Given the description of an element on the screen output the (x, y) to click on. 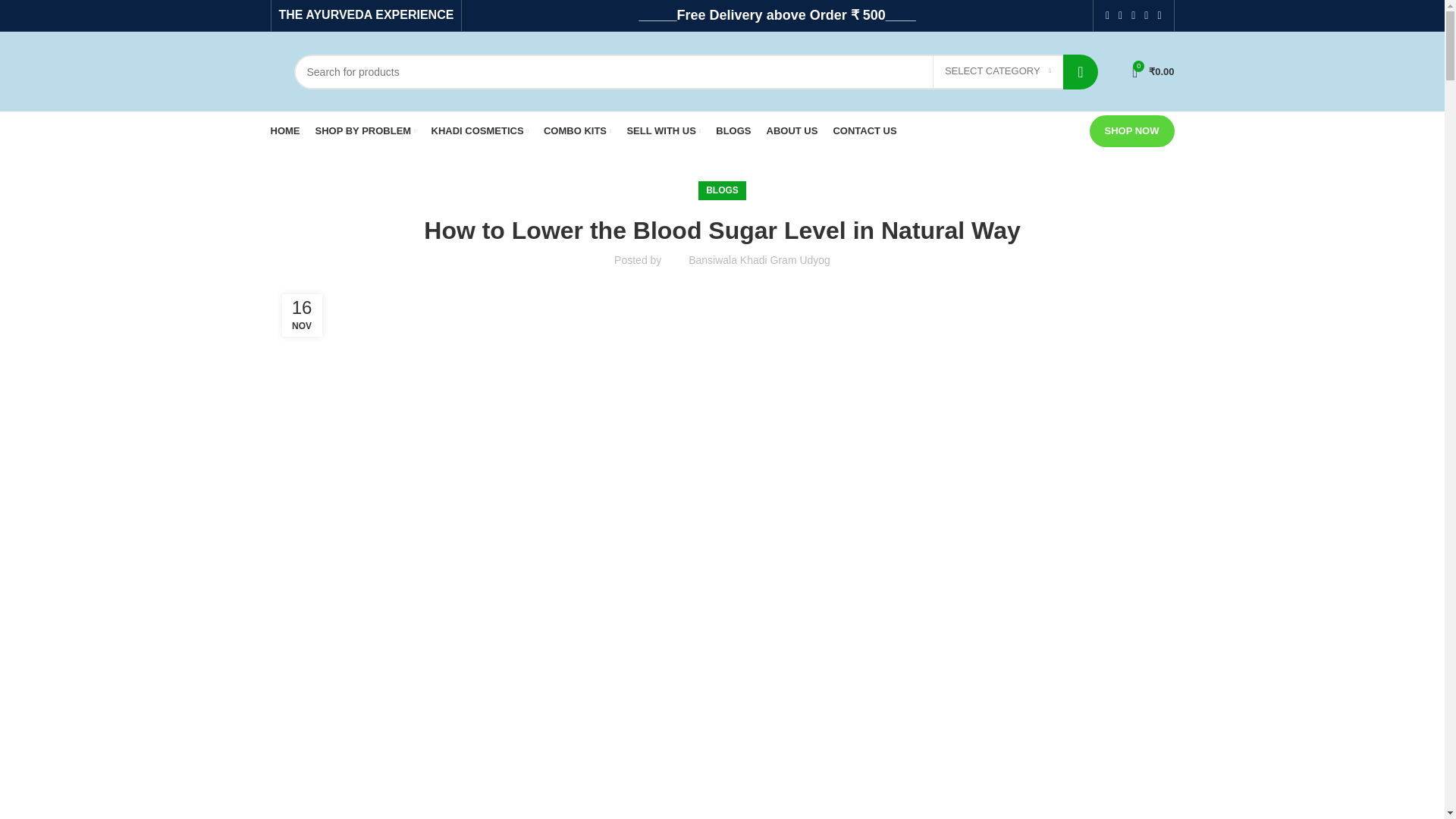
SELECT CATEGORY (997, 71)
HOME (284, 131)
SELECT CATEGORY (997, 71)
Shopping cart (1153, 71)
Search for products (695, 71)
SEARCH (1079, 71)
SHOP BY PROBLEM (365, 131)
